Given the description of an element on the screen output the (x, y) to click on. 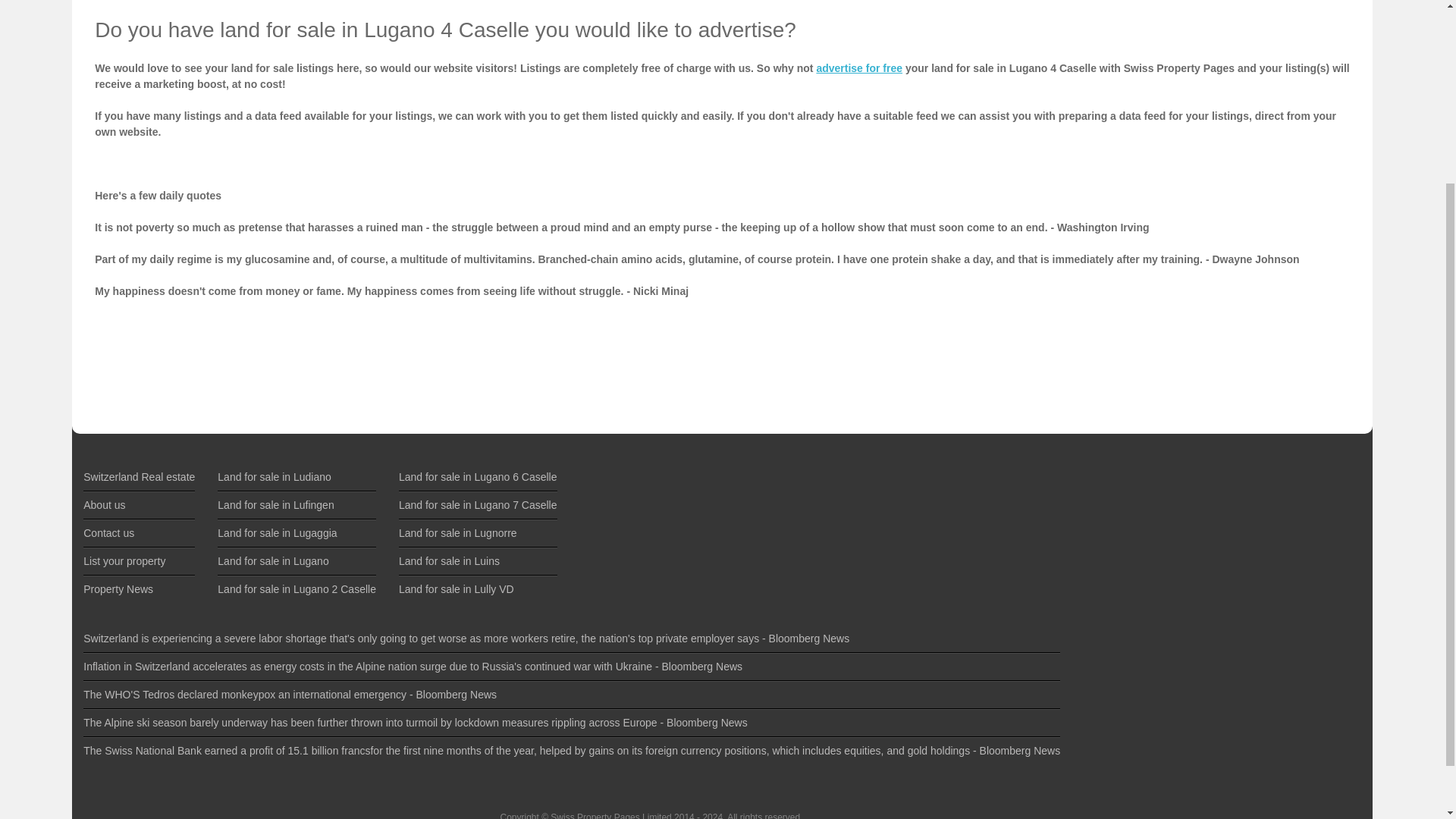
Contact us (107, 532)
List your property (123, 561)
About Swiss Property Pages (103, 504)
Land for sale in Lufingen (274, 504)
Property News (117, 589)
About us (103, 504)
Land for sale in Lugano 2 Caselle (295, 589)
Land for sale in Lugaggia (276, 532)
Land for sale in Lufingen (274, 504)
Switzerland Real estate (138, 476)
Land for sale in Ludiano (273, 476)
Land for sale in Lugano 7 Caselle (477, 504)
Land for sale in Lugano 6 Caselle (477, 476)
Land for sale in Luins (448, 561)
Bloomberg News (1020, 750)
